Given the description of an element on the screen output the (x, y) to click on. 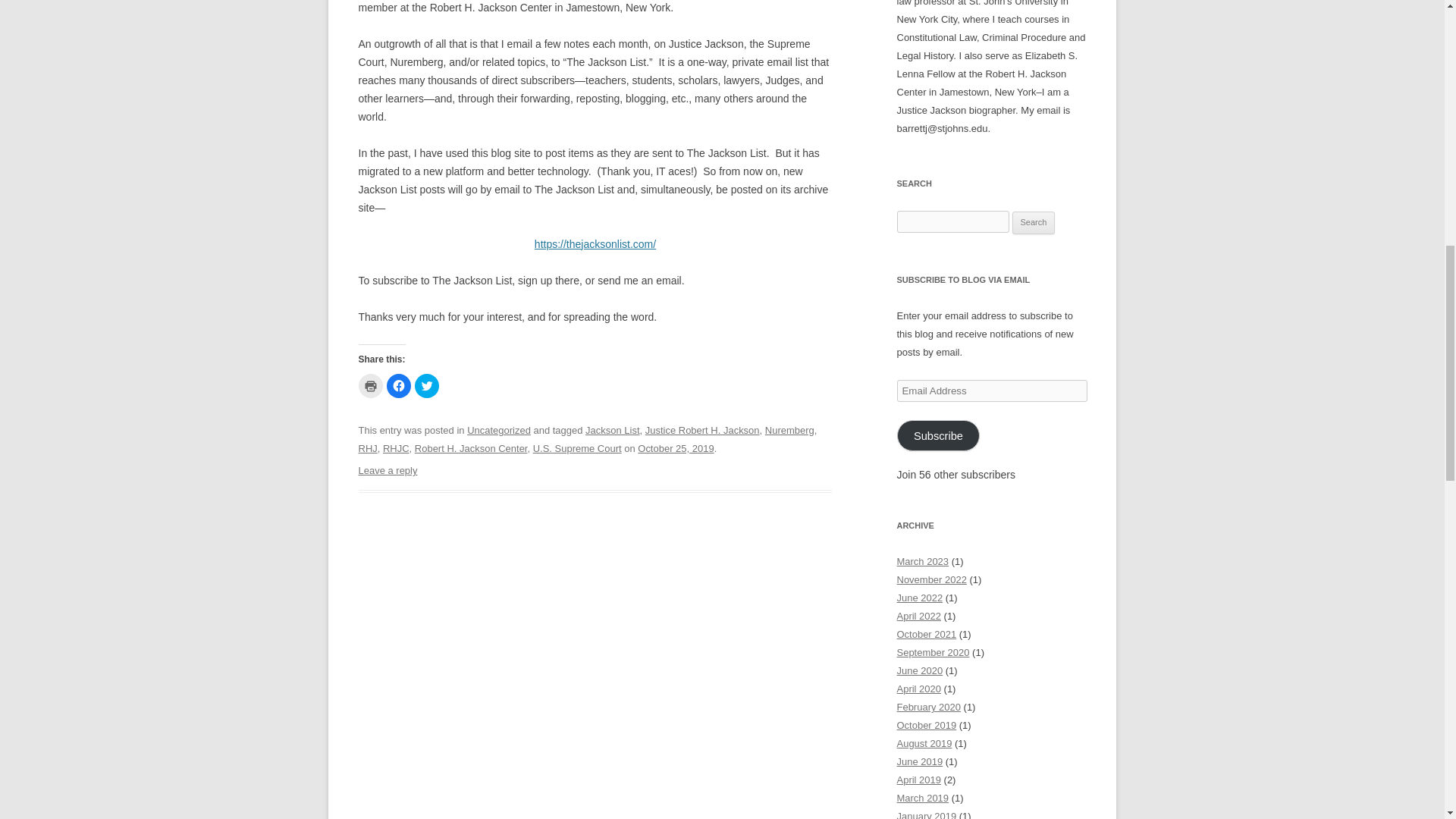
January 2019 (926, 814)
Search (1033, 222)
September 2020 (932, 652)
March 2023 (922, 561)
Robert H. Jackson Center (470, 448)
August 2019 (924, 743)
Leave a reply (387, 470)
February 2020 (927, 706)
June 2019 (919, 761)
Search (1033, 222)
June 2022 (919, 597)
Uncategorized (499, 430)
March 2019 (922, 797)
Nuremberg (789, 430)
October 2021 (926, 633)
